Given the description of an element on the screen output the (x, y) to click on. 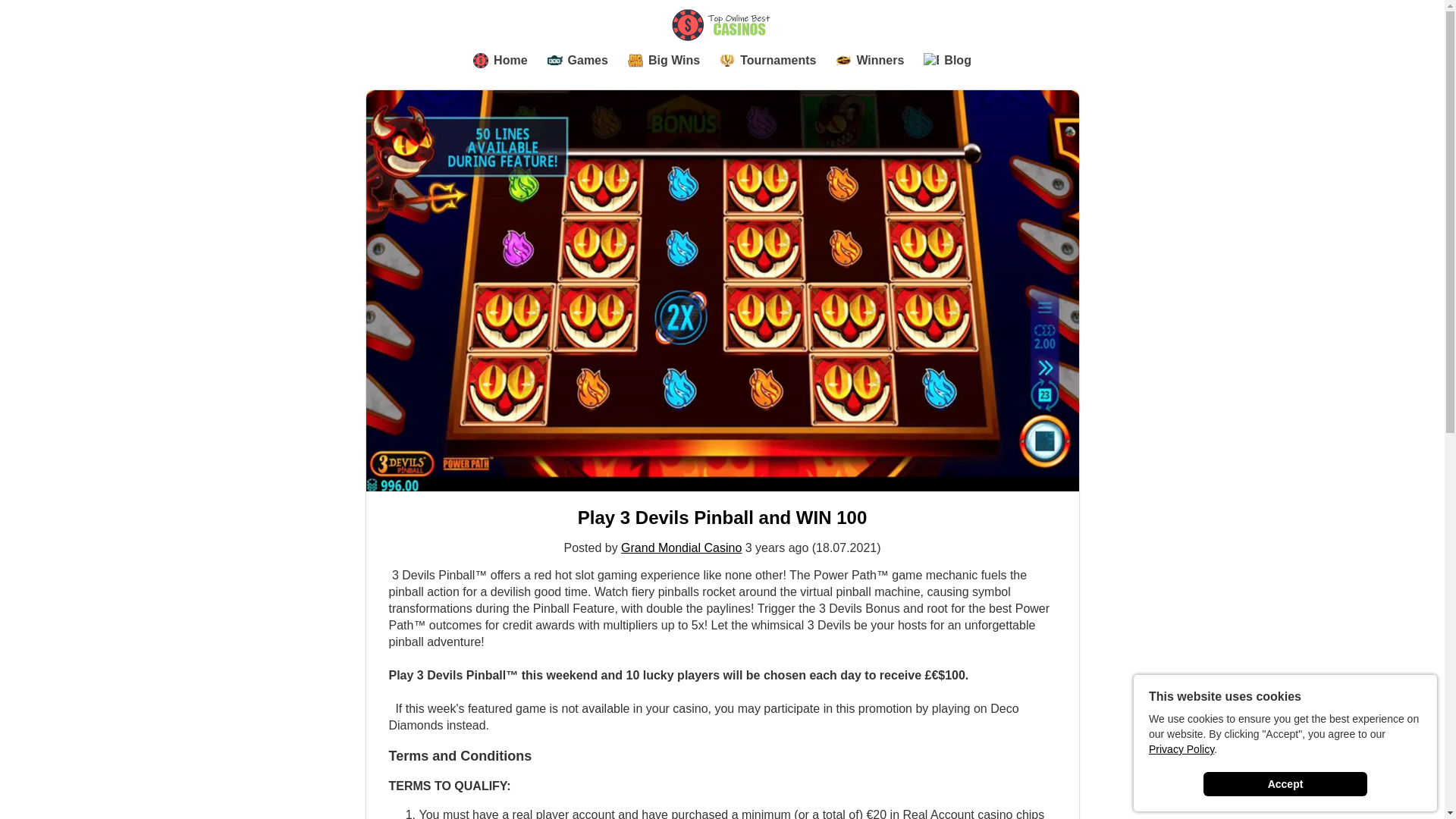
Grand Mondial Casino (681, 547)
Big Wins (663, 61)
Blog (946, 61)
Wildsbet Blog (946, 61)
Tournaments (767, 61)
Privacy Policy (1181, 748)
Grand Mondial Casino (681, 547)
Home (499, 61)
Home page (499, 61)
Play 3 Devils Pinball and WIN 100 (722, 516)
Online Casino Demo Games (577, 61)
Online Casino Tournaments (767, 61)
Games (577, 61)
Winners (869, 61)
Play 3 Devils Pinball and WIN 100 Site (722, 516)
